Given the description of an element on the screen output the (x, y) to click on. 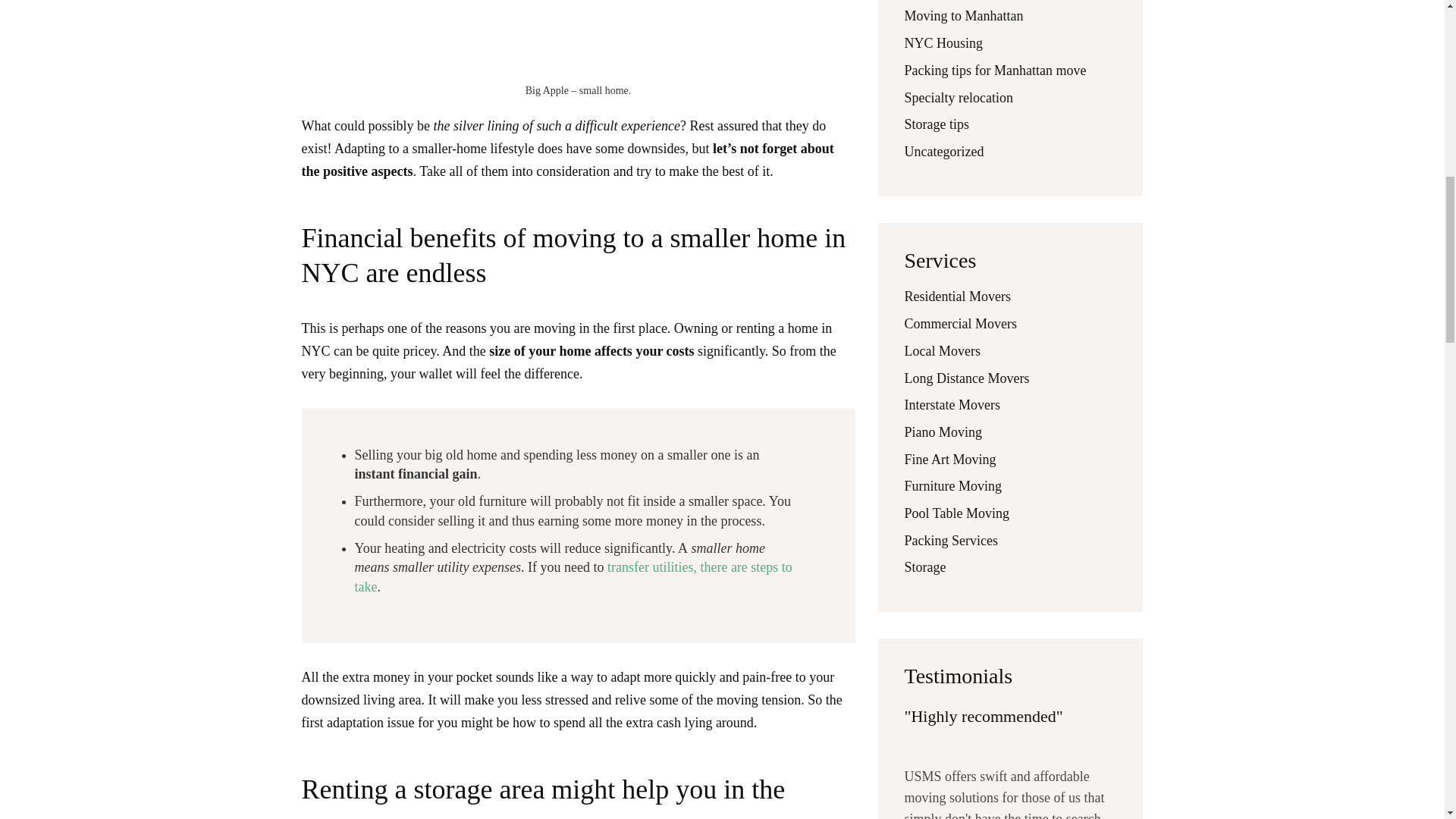
transfer utilities, there are steps to take (573, 576)
Packing tips for Manhattan move (995, 70)
Specialty relocation (957, 97)
NYC Housing (943, 43)
Moving to Manhattan (963, 15)
